Given the description of an element on the screen output the (x, y) to click on. 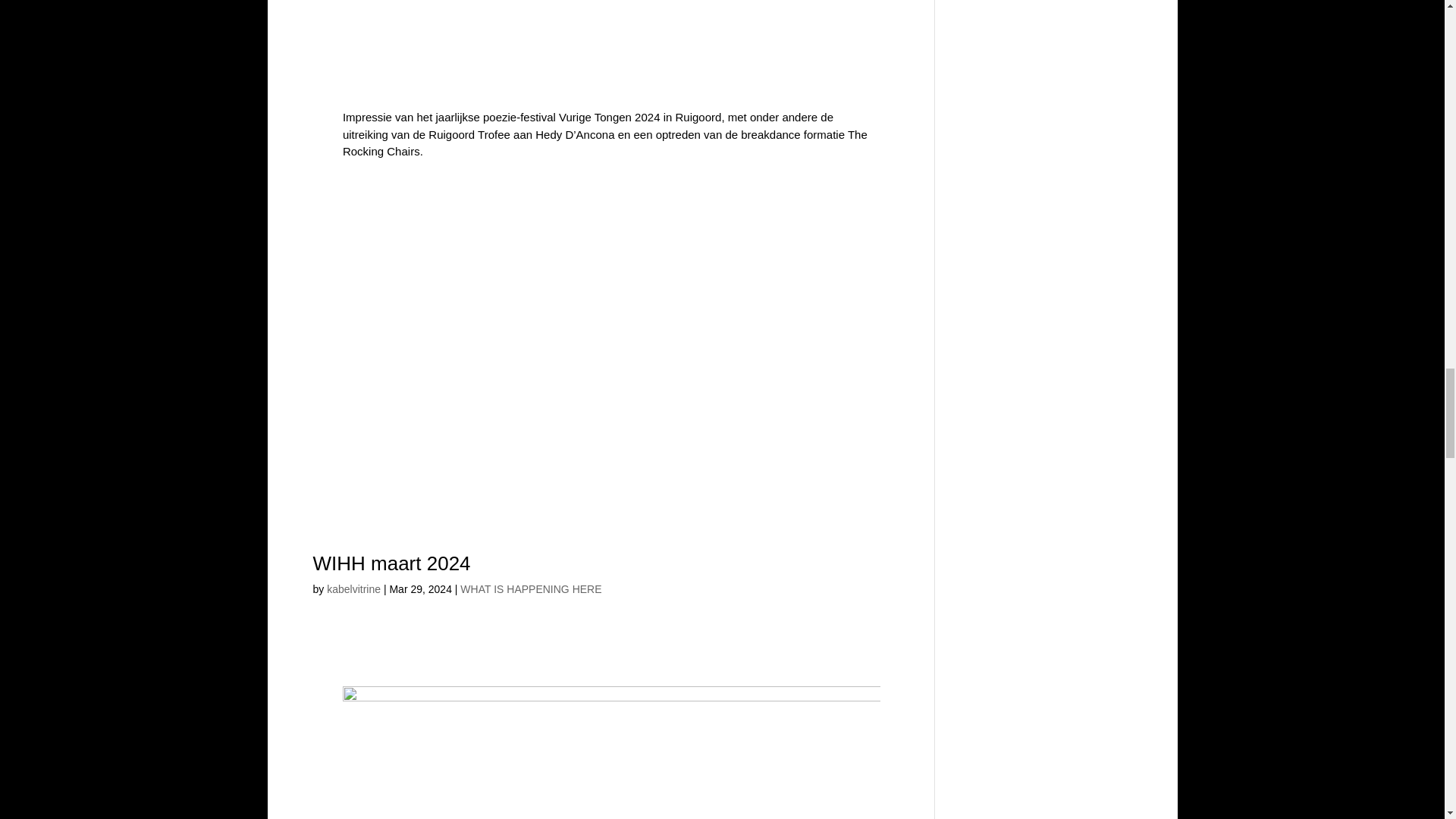
aid-24mei2024 (611, 50)
WIHH maart 2024 (391, 563)
kabelvitrine (353, 589)
Posts by kabelvitrine (353, 589)
WHAT IS HAPPENING HERE (530, 589)
